Given the description of an element on the screen output the (x, y) to click on. 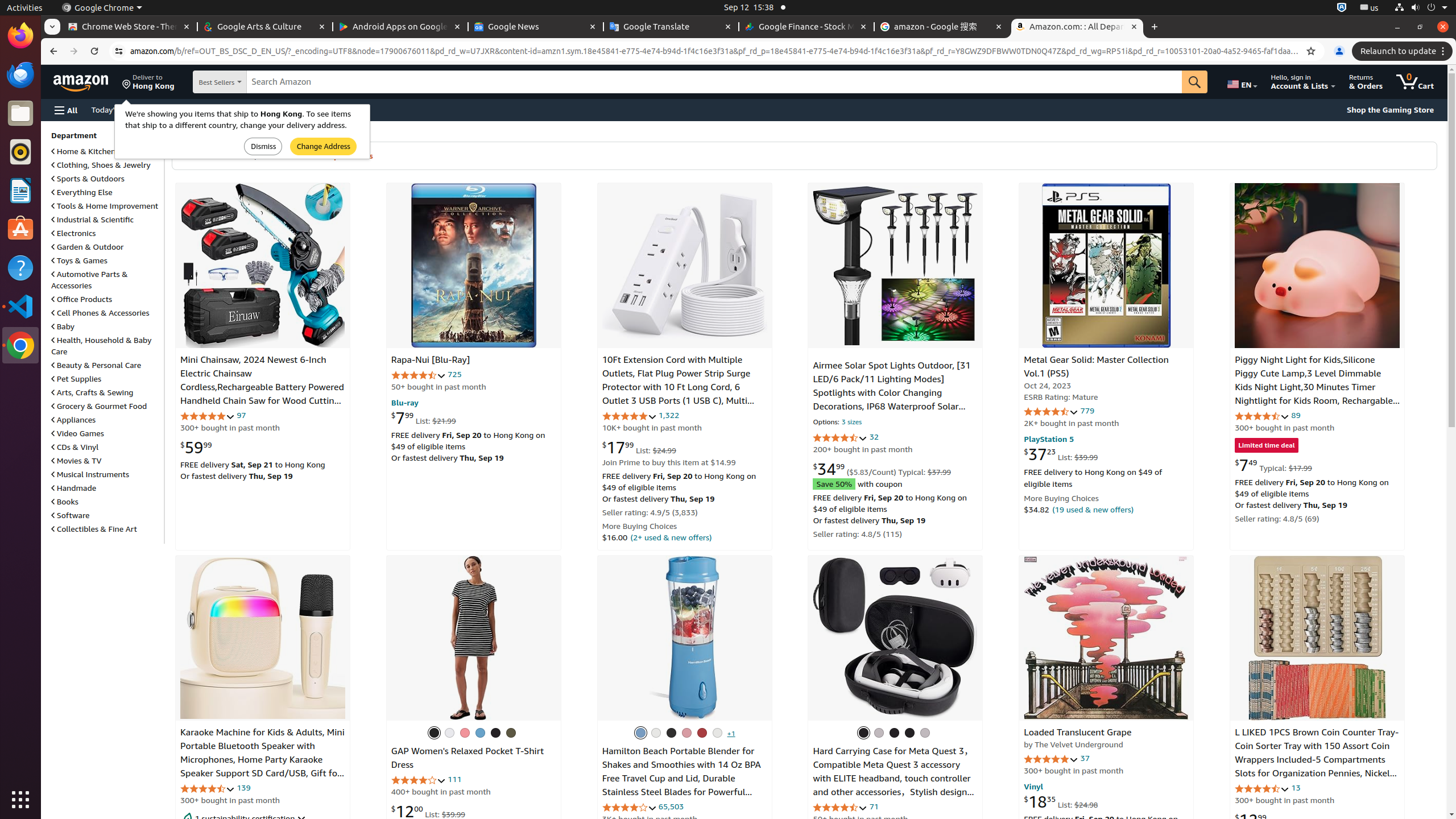
Collectibles & Fine Art Element type: link (94, 528)
4.9 out of 5 stars Element type: push-button (1050, 758)
Ubuntu Software Element type: push-button (20, 229)
$37.23 List: $39.99 Element type: link (1060, 453)
Today's Deals Element type: link (115, 109)
